Given the description of an element on the screen output the (x, y) to click on. 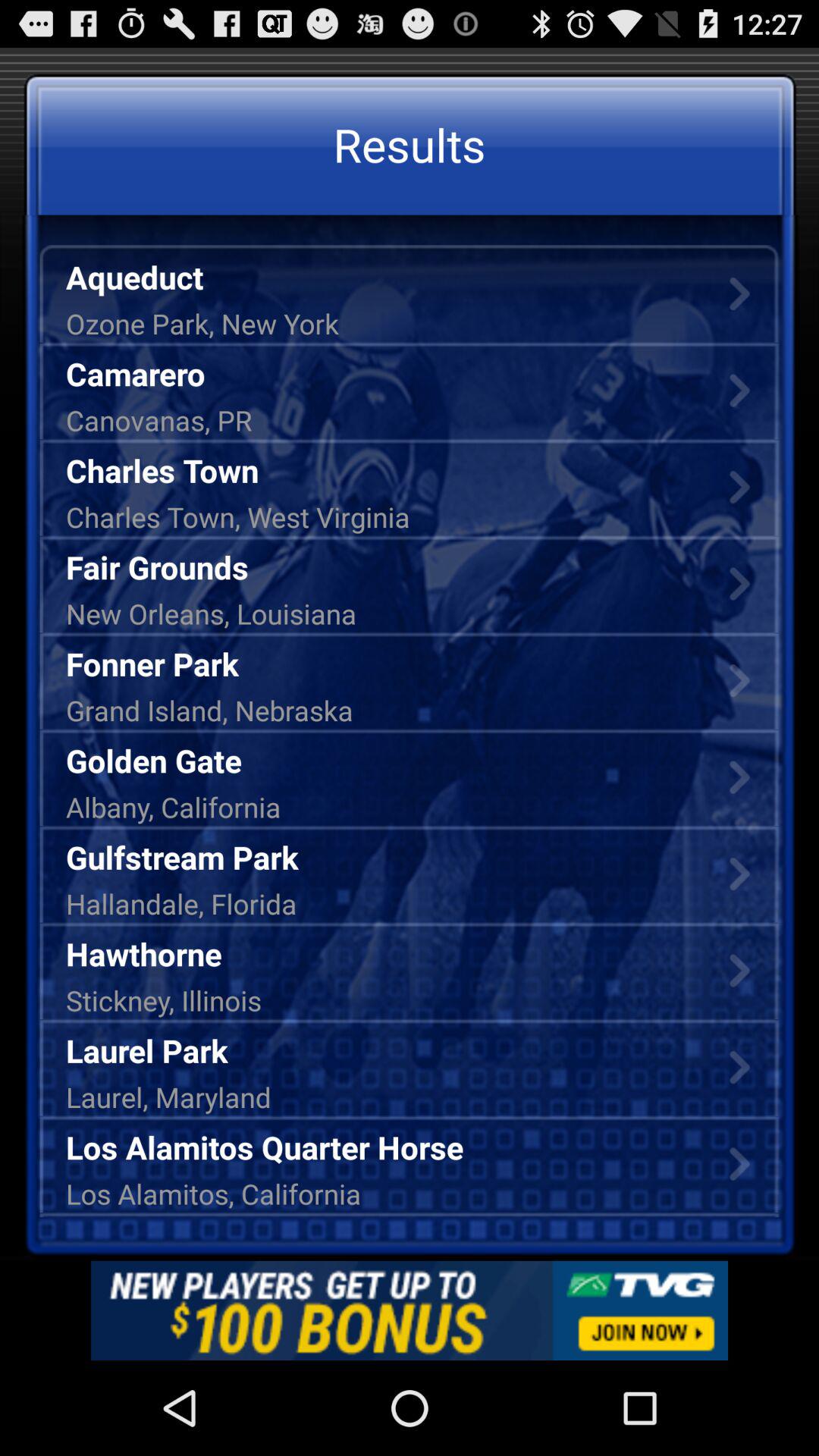
opens advertisement (409, 1310)
